Given the description of an element on the screen output the (x, y) to click on. 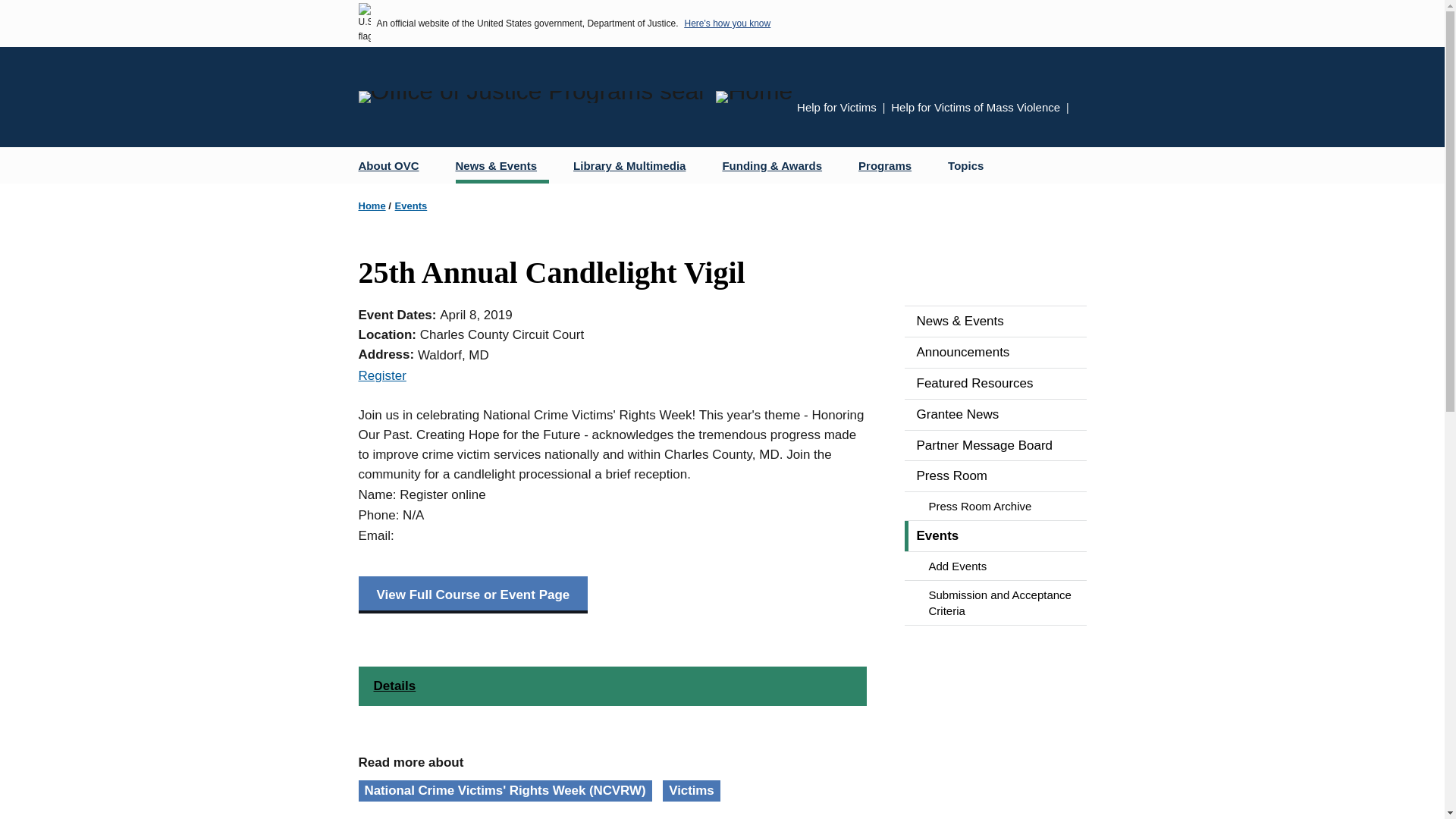
Press Room (995, 476)
Share (1080, 108)
About OVC (394, 165)
Details (612, 685)
Events (995, 536)
Grantee News (995, 414)
Announcements (995, 352)
Add Events (995, 565)
Register (382, 375)
Here's how you know (727, 23)
